Given the description of an element on the screen output the (x, y) to click on. 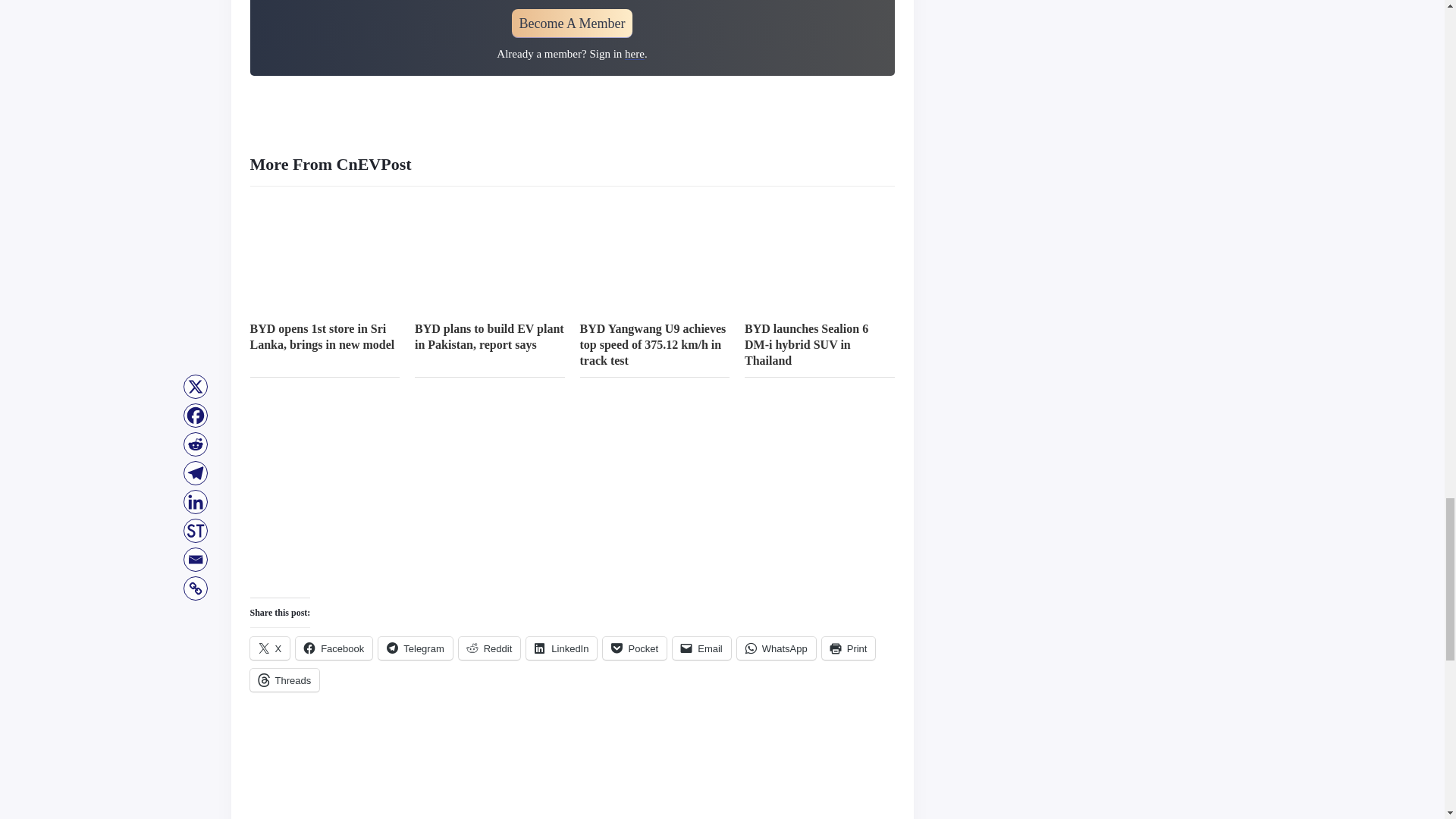
Click to print (849, 648)
here (634, 53)
Click to share on Threads (285, 680)
Click to share on X (269, 648)
Click to email a link to a friend (701, 648)
Click to share on Telegram (414, 648)
Become A Member (572, 23)
Click to share on LinkedIn (560, 648)
Click to share on Facebook (333, 648)
Click to share on Reddit (489, 648)
